Given the description of an element on the screen output the (x, y) to click on. 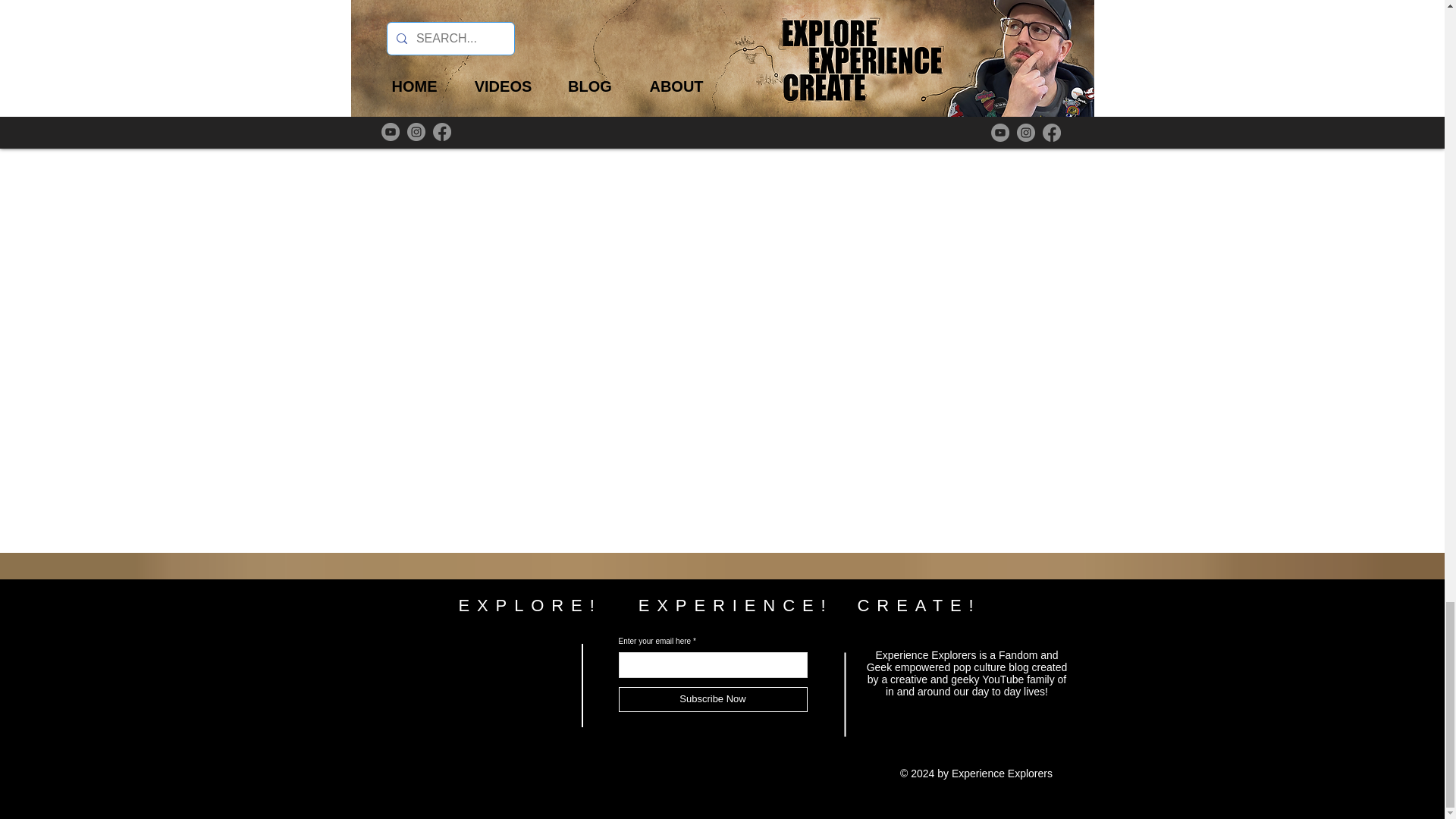
0 (1046, 94)
0 (931, 94)
More Ghostbusters Behind the Scenes! (440, 94)
Ghostbusters Themed Haunt - Will 'Bust' Expectations (476, 42)
0 (967, 42)
Post not marked as liked (691, 94)
Post not marked as liked (804, 94)
